Given the description of an element on the screen output the (x, y) to click on. 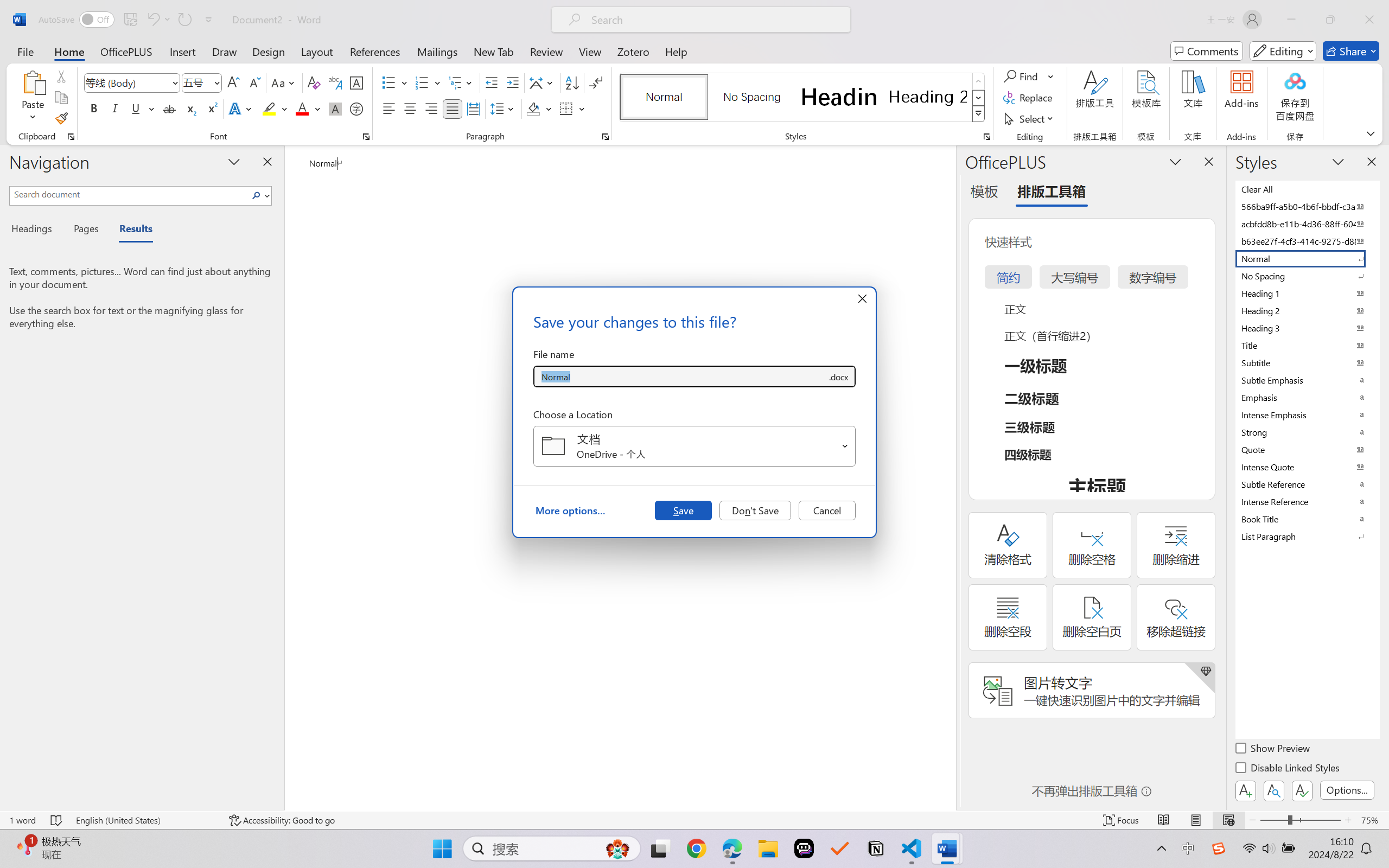
Shrink Font (253, 82)
Show/Hide Editing Marks (595, 82)
Select (1030, 118)
Increase Indent (512, 82)
Subtle Reference (1306, 484)
Show Preview (1273, 749)
